Given the description of an element on the screen output the (x, y) to click on. 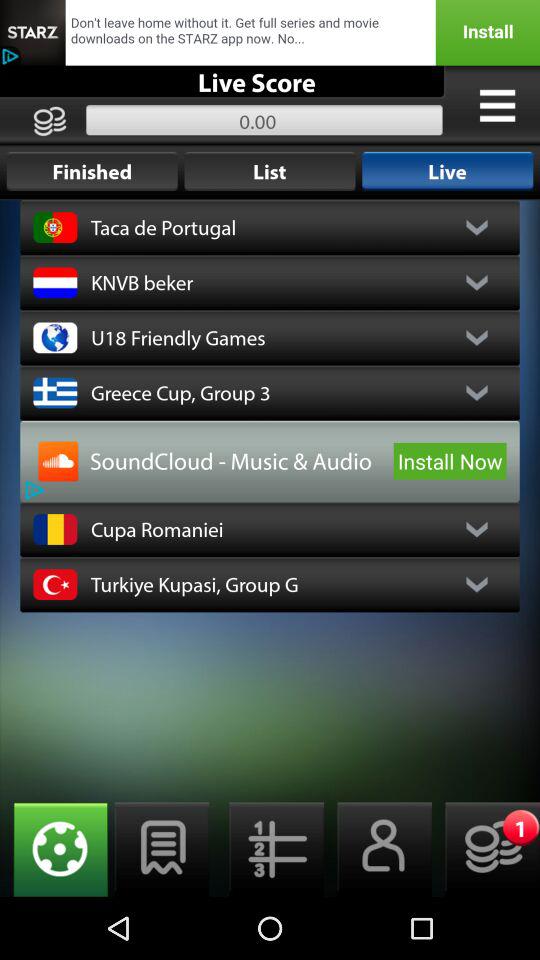
advertisement banner (270, 32)
